Given the description of an element on the screen output the (x, y) to click on. 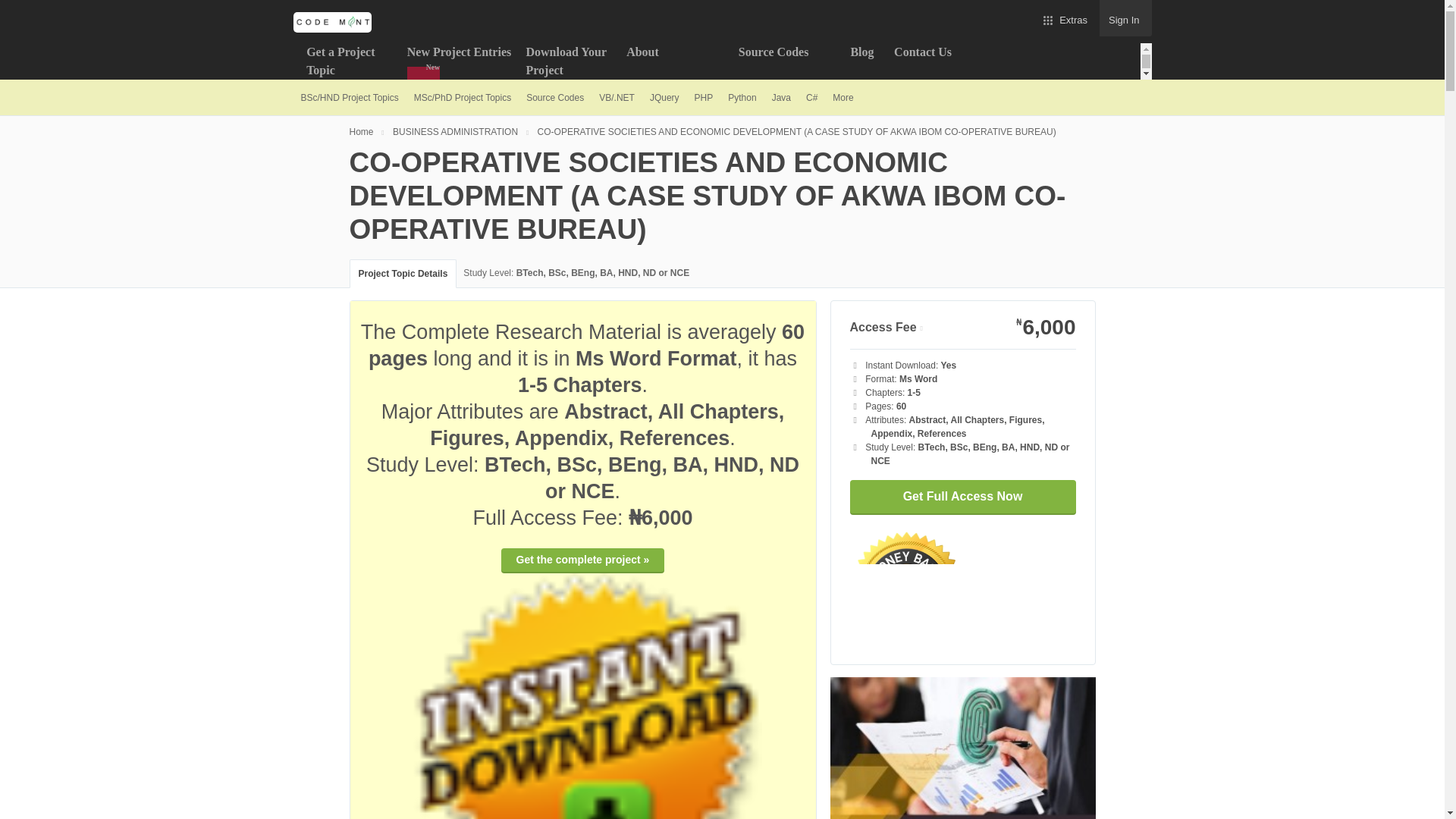
Extras (1064, 18)
Python (741, 97)
JQuery (664, 97)
BUSINESS ADMINISTRATION (463, 131)
Hire a Writer for your project research (787, 60)
Home (368, 131)
Contact Us (945, 60)
About (675, 60)
PHP (703, 97)
Learn More About Us at CodeMint (675, 60)
Source Codes (787, 60)
Newly Published Project Topic Entries (459, 60)
Get a Project Topic (349, 60)
New Project Entries New (459, 60)
Sign In (1125, 18)
